Given the description of an element on the screen output the (x, y) to click on. 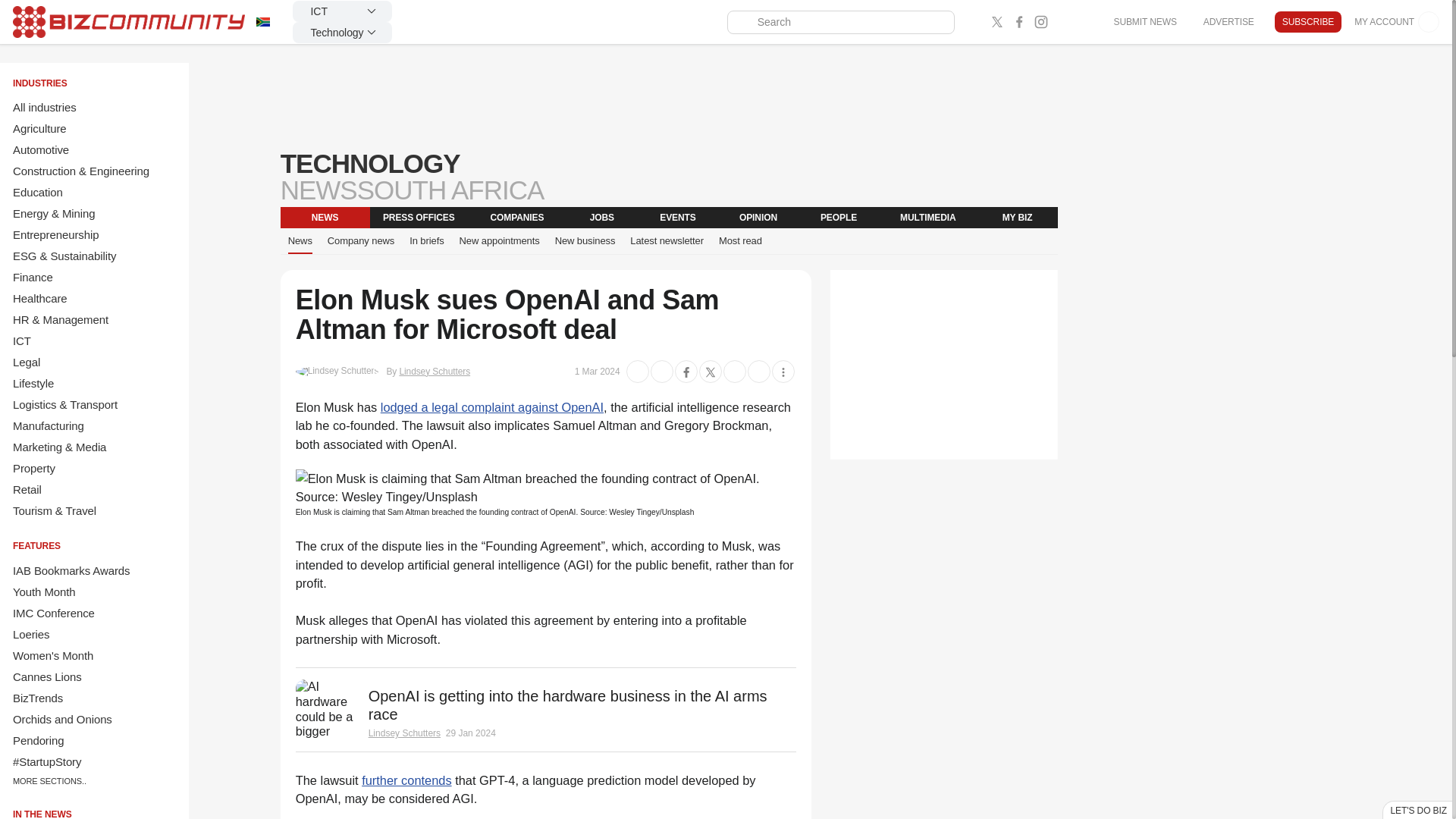
Bizcommunity facebook (1084, 22)
ICT (342, 11)
ADVERTISE (1228, 21)
Technology (342, 32)
Bizcommunity youtube (1062, 22)
MY ACCOUNT (1396, 21)
Bizcommunity instagram (1040, 22)
SUBMIT NEWS (1144, 21)
SUBSCRIBE (1307, 21)
Bizcommunity linked (975, 22)
Bizcommunity facebook (1018, 22)
